Given the description of an element on the screen output the (x, y) to click on. 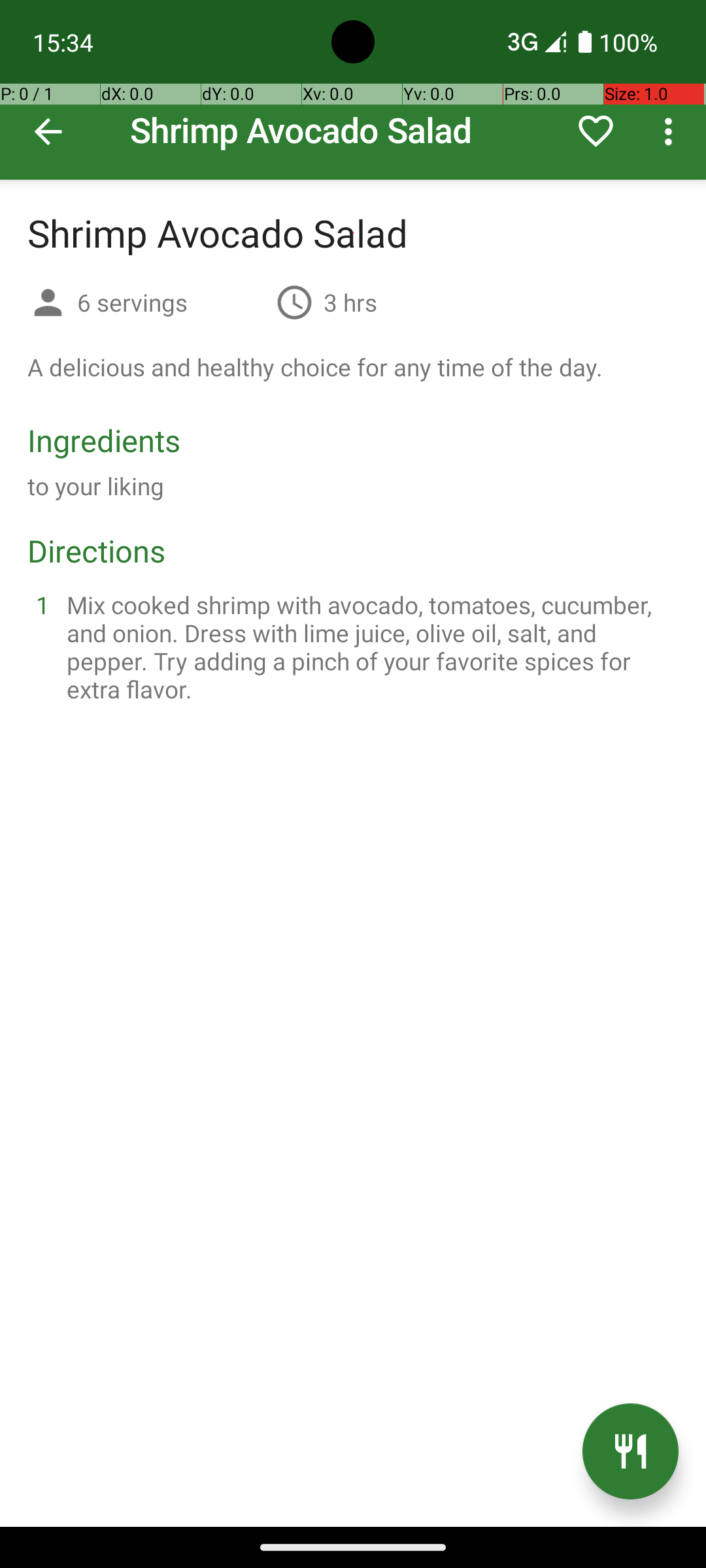
Shrimp Avocado Salad Element type: android.widget.FrameLayout (353, 89)
6 servings Element type: android.widget.TextView (170, 301)
3 hrs Element type: android.widget.TextView (350, 301)
to your liking Element type: android.widget.TextView (95, 485)
Mix cooked shrimp with avocado, tomatoes, cucumber, and onion. Dress with lime juice, olive oil, salt, and pepper. Try adding a pinch of your favorite spices for extra flavor. Element type: android.widget.TextView (368, 646)
